Given the description of an element on the screen output the (x, y) to click on. 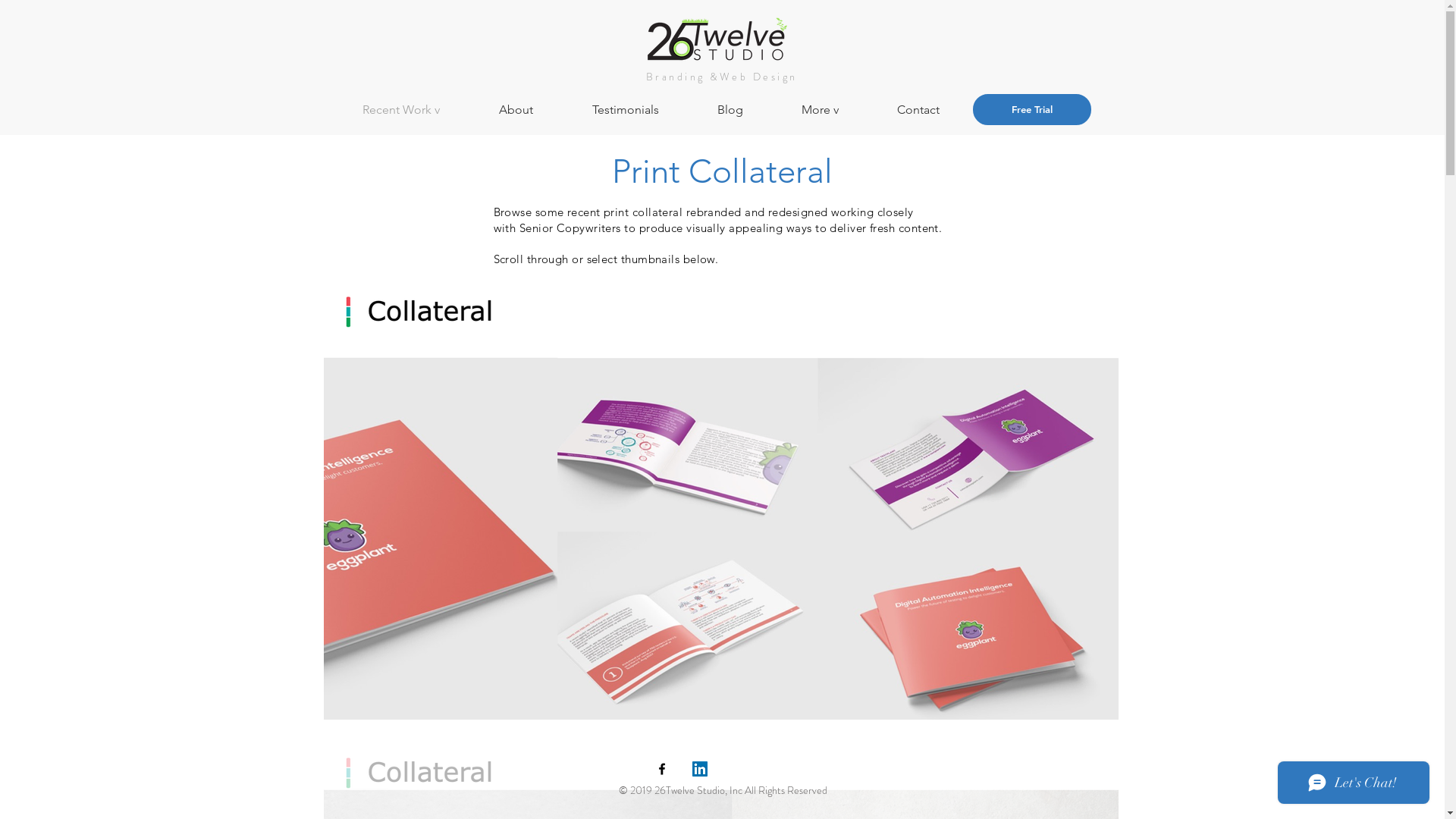
Testimonials Element type: text (643, 109)
Recent Work v Element type: text (418, 109)
Blog Element type: text (747, 109)
Branding &Web Design Element type: text (721, 76)
Free Trial Element type: text (1031, 109)
About Element type: text (533, 109)
Contact Element type: text (935, 109)
Free Trial Element type: text (1039, 109)
More v Element type: text (837, 109)
